Given the description of an element on the screen output the (x, y) to click on. 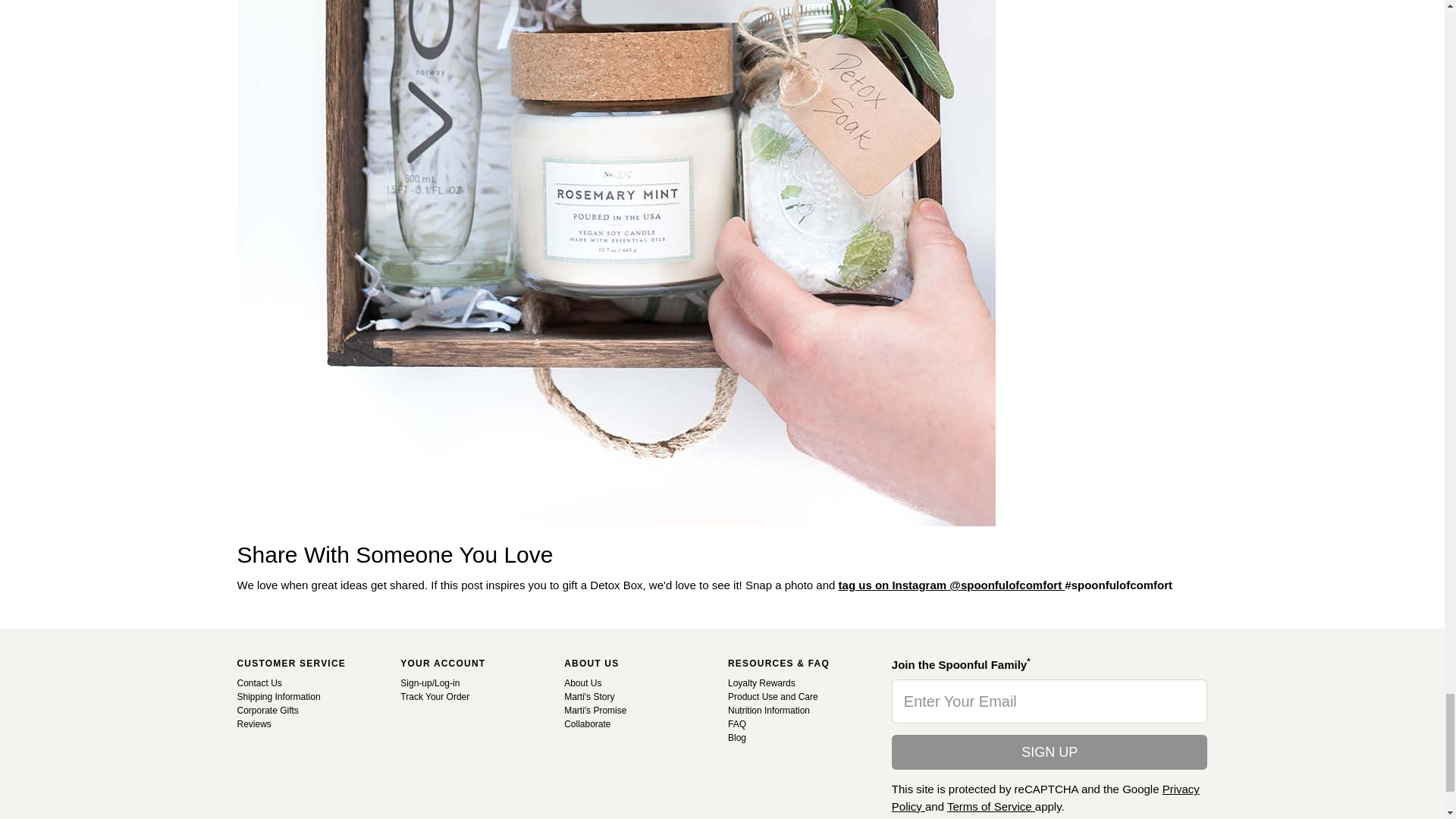
This field is required. (1049, 701)
